Given the description of an element on the screen output the (x, y) to click on. 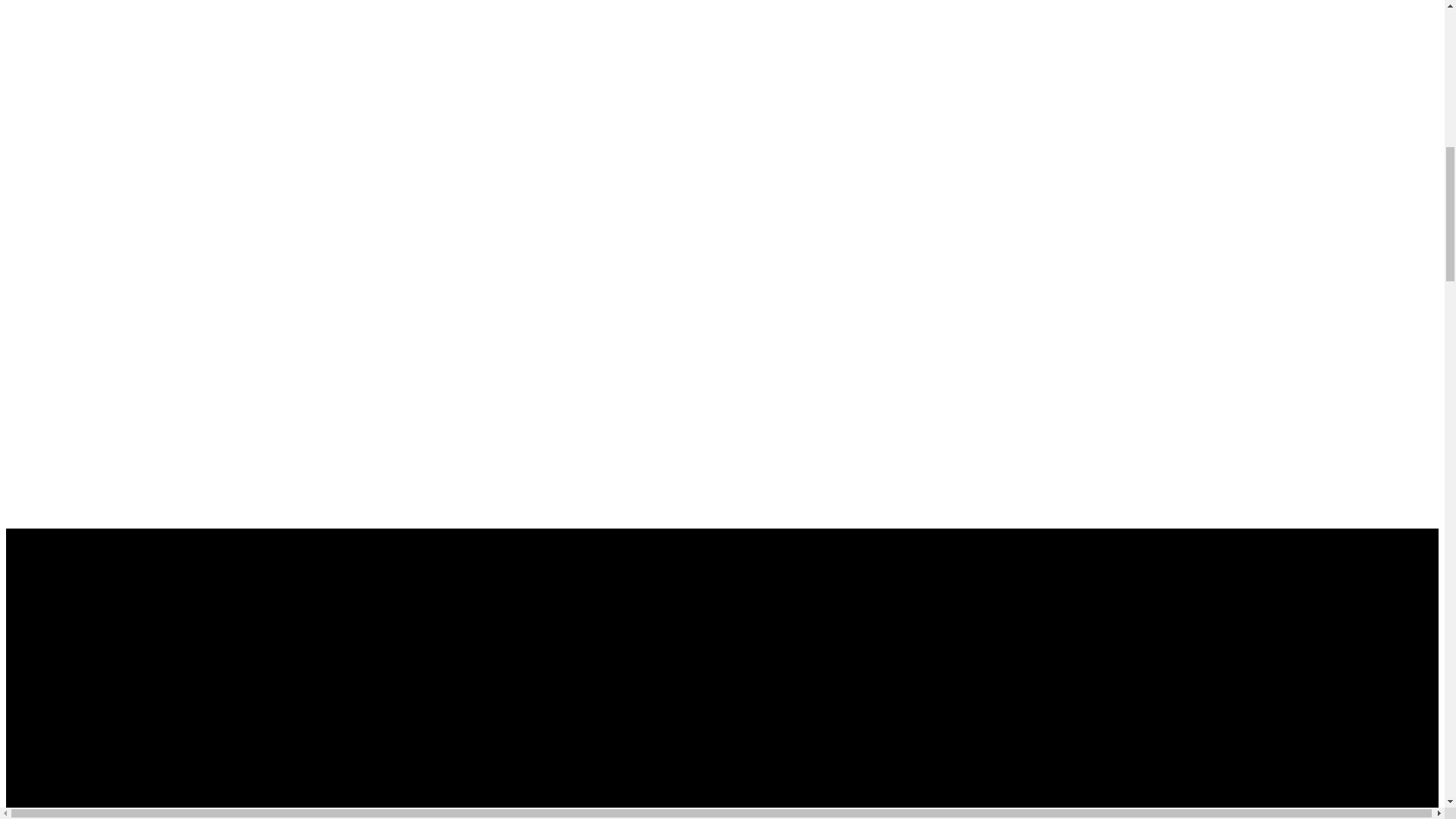
Register (30, 711)
Login (24, 595)
Send My Password (54, 797)
